Given the description of an element on the screen output the (x, y) to click on. 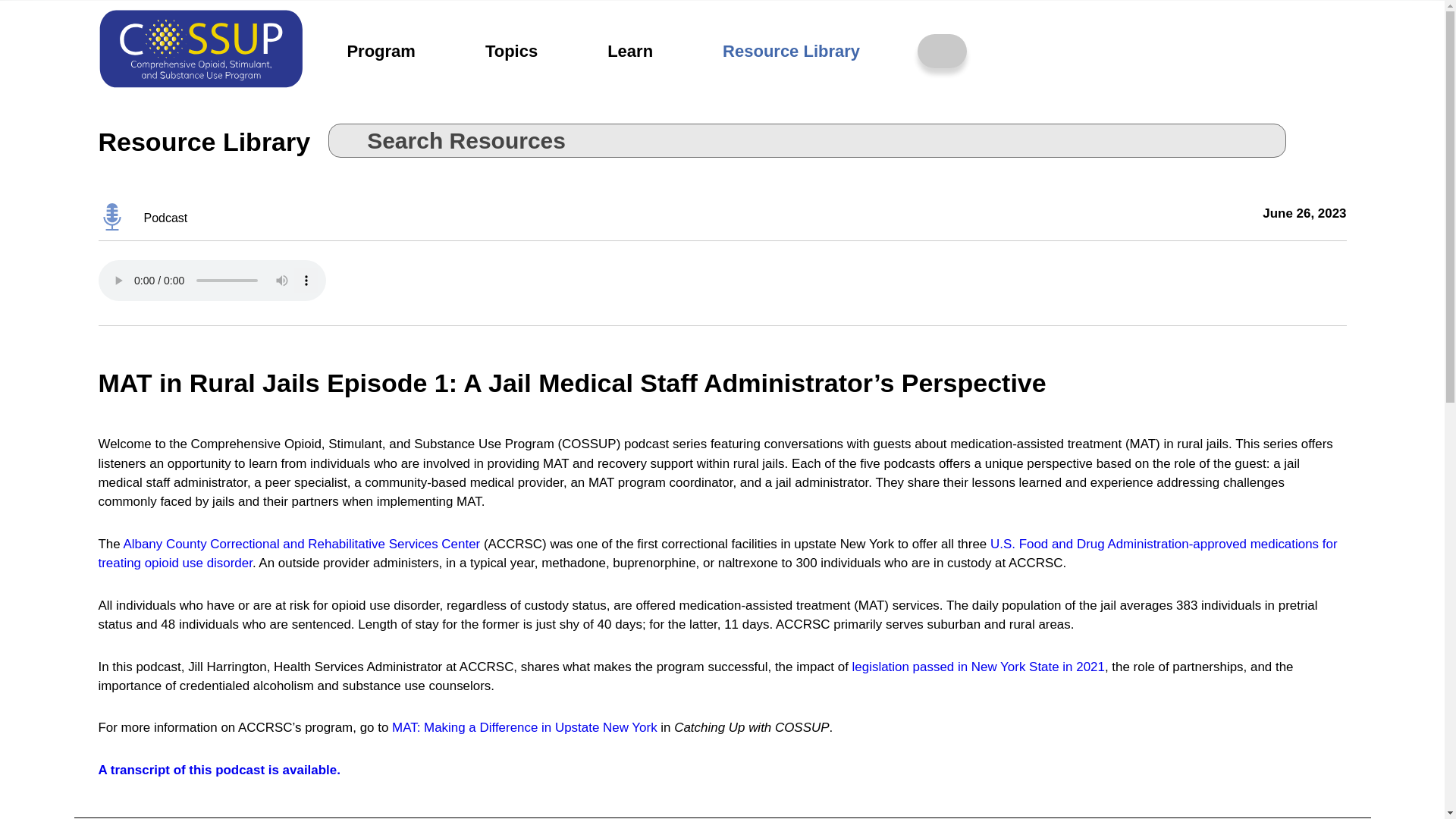
Resource Library (791, 51)
Program (380, 51)
